Given the description of an element on the screen output the (x, y) to click on. 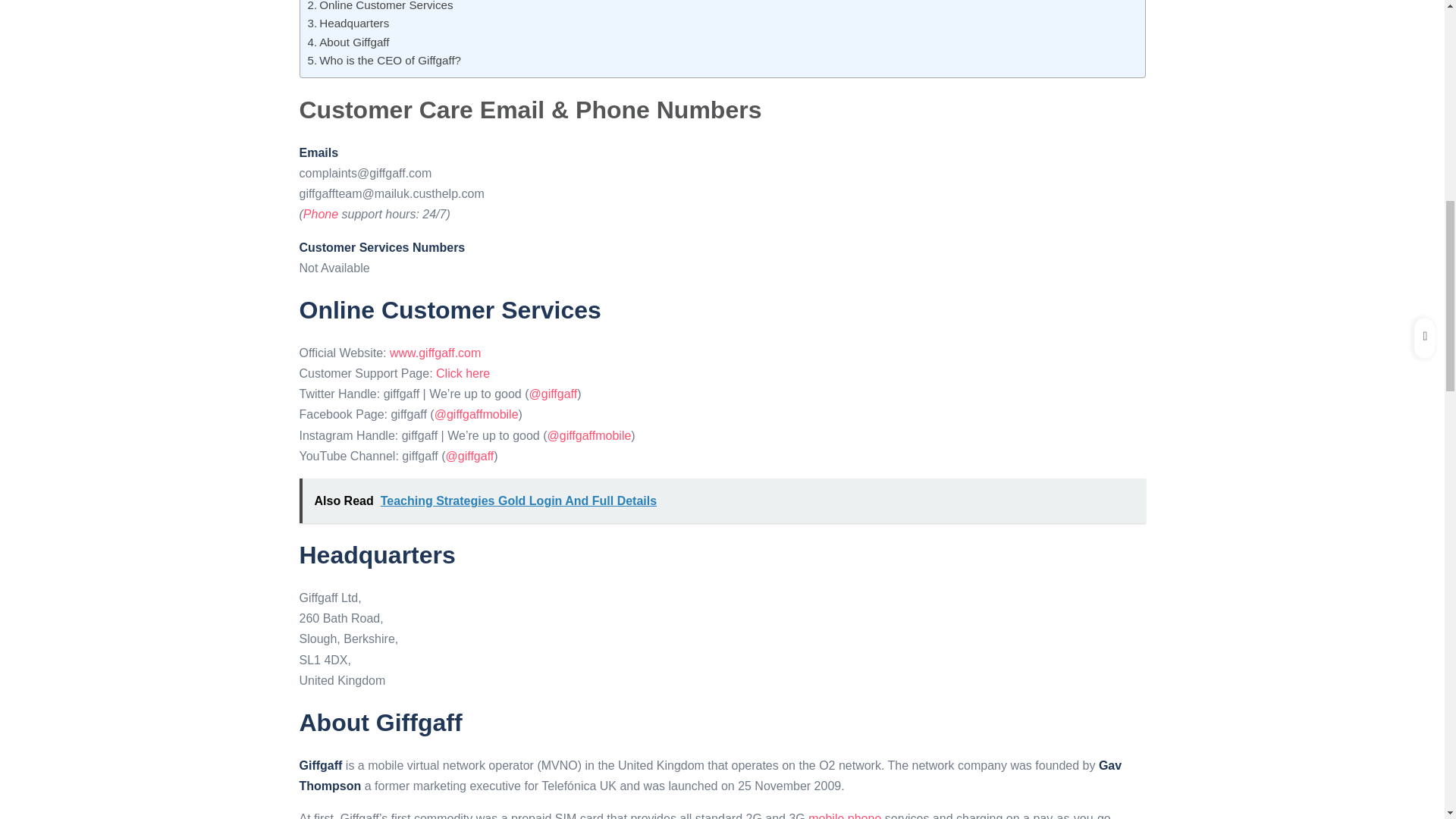
Online Customer Services (379, 7)
Headquarters (348, 23)
Who is the CEO of Giffgaff? (384, 60)
About Giffgaff  (348, 42)
